Given the description of an element on the screen output the (x, y) to click on. 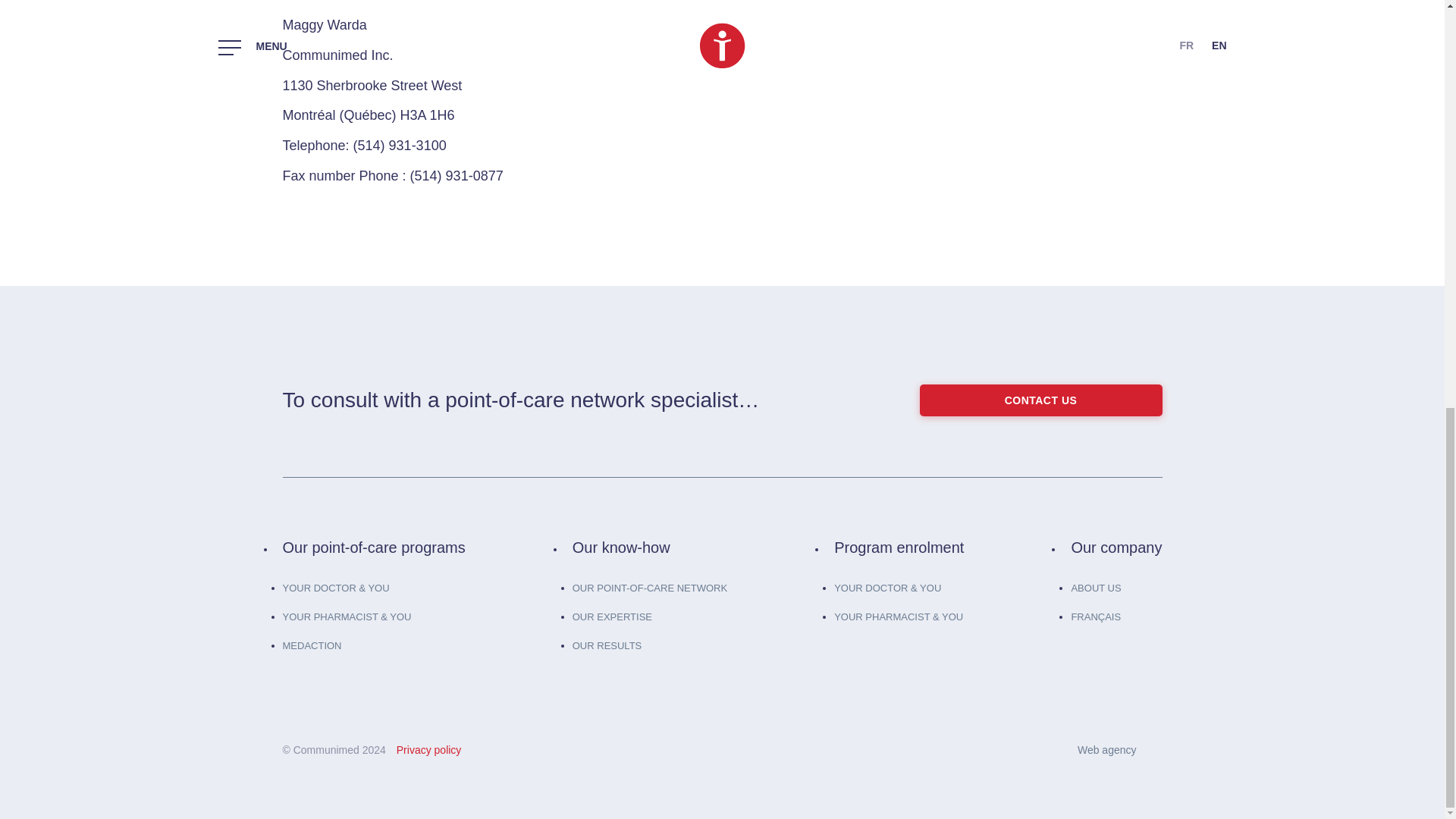
Web agency (1119, 750)
ABOUT US (1095, 587)
Privacy policy (428, 749)
CONTACT US (1039, 400)
OUR EXPERTISE (612, 616)
MEDACTION (311, 645)
OUR POINT-OF-CARE NETWORK (649, 587)
OUR RESULTS (607, 645)
